Given the description of an element on the screen output the (x, y) to click on. 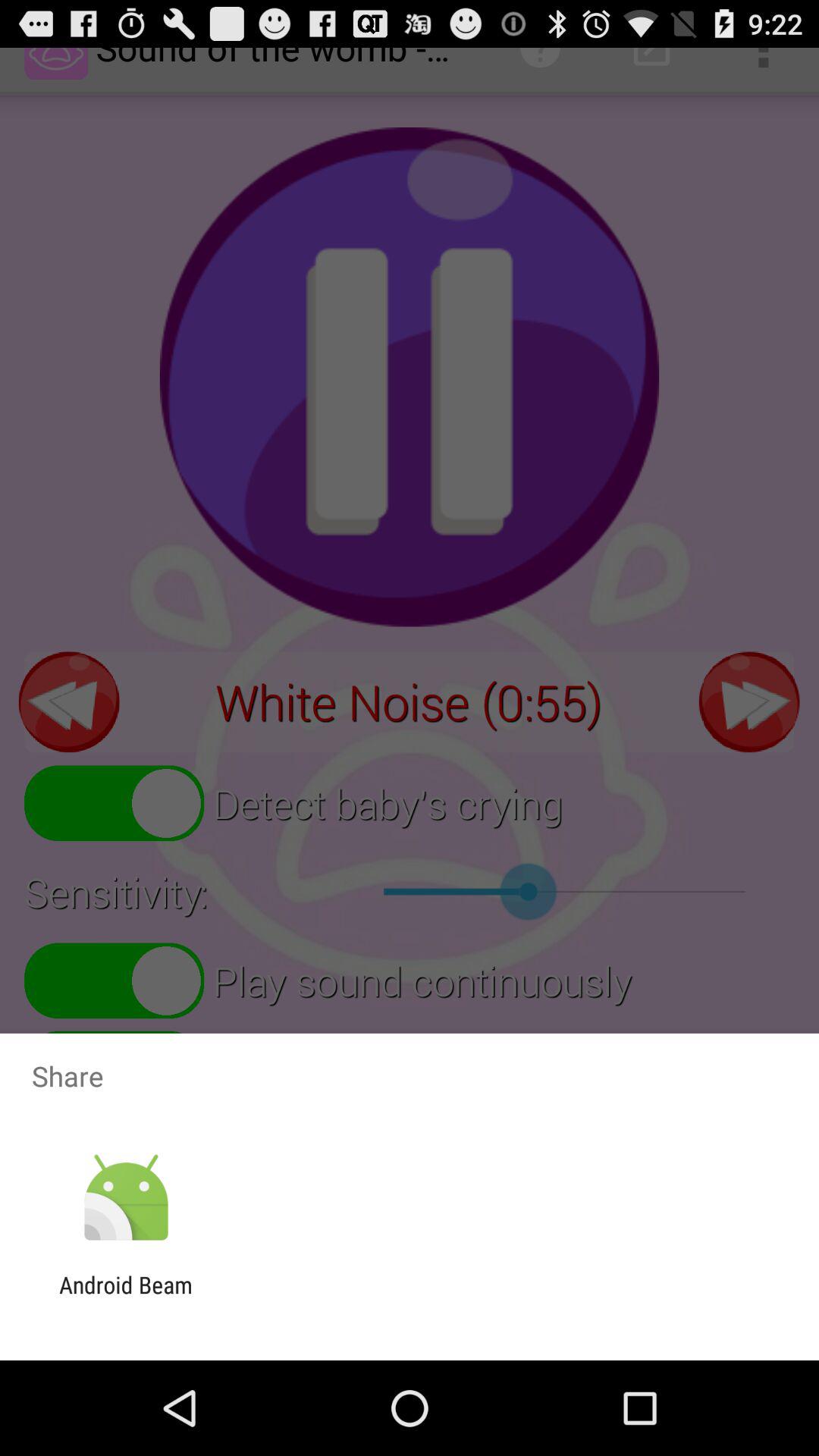
click the item below share app (126, 1198)
